Given the description of an element on the screen output the (x, y) to click on. 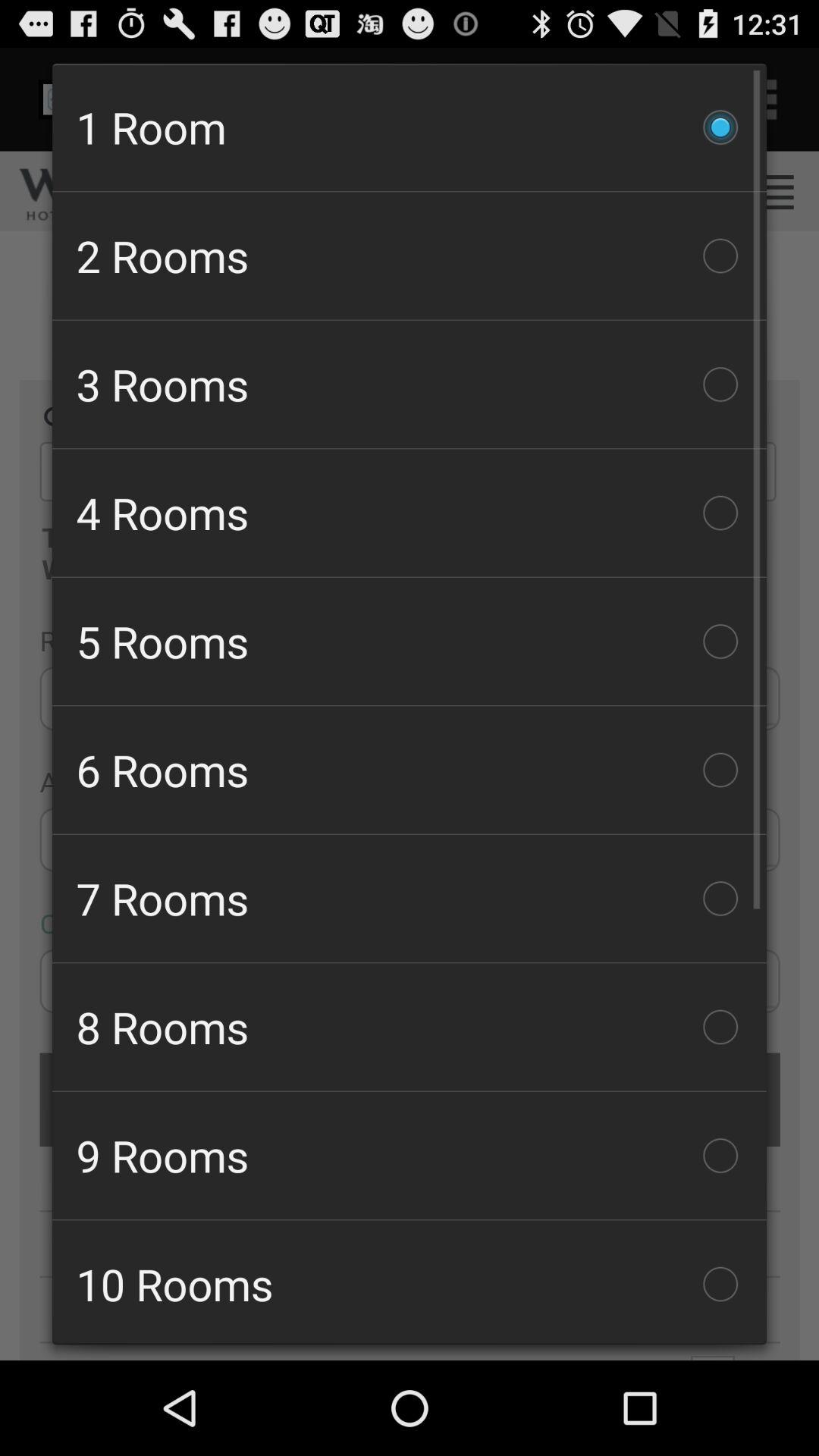
click icon below 5 rooms icon (409, 769)
